Given the description of an element on the screen output the (x, y) to click on. 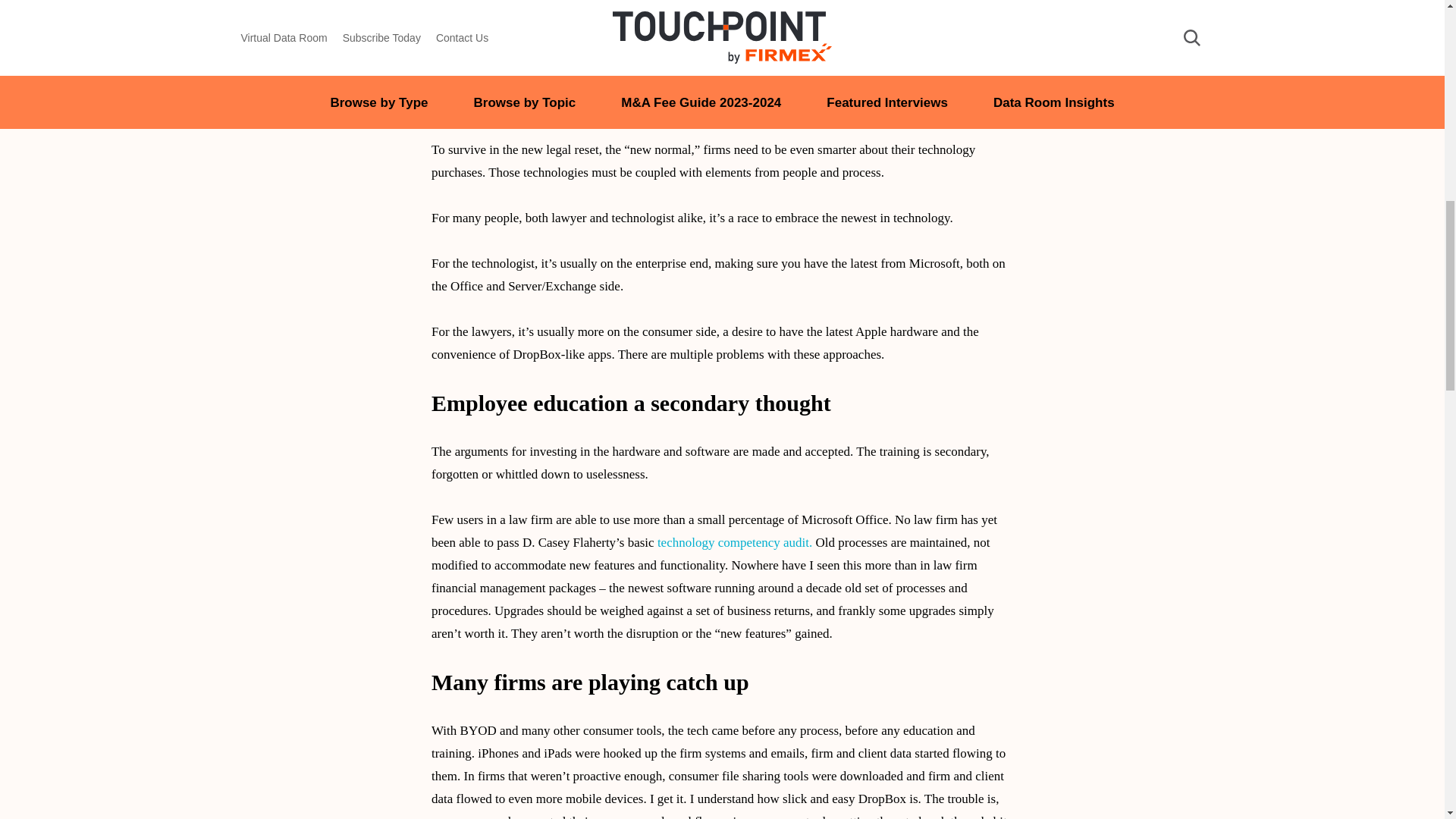
technology competency audit. (735, 542)
